Given the description of an element on the screen output the (x, y) to click on. 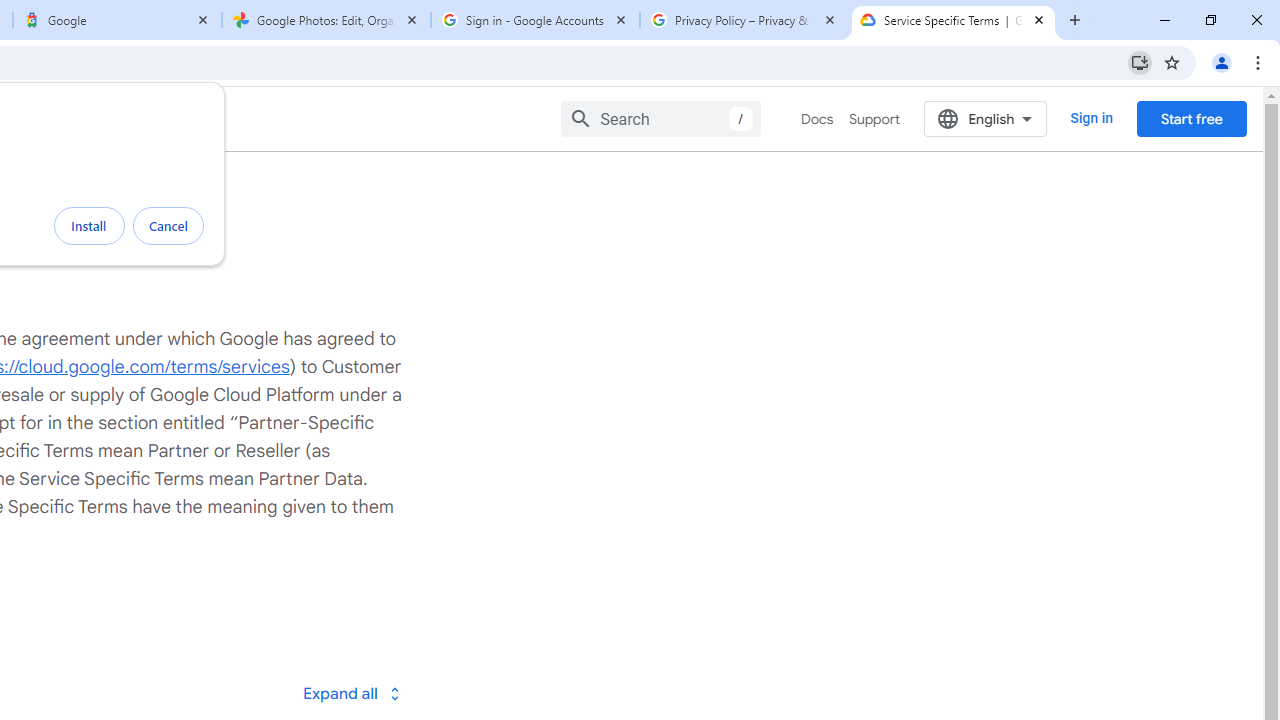
English (985, 118)
Install Google Cloud (1139, 62)
Cancel (168, 225)
